Given the description of an element on the screen output the (x, y) to click on. 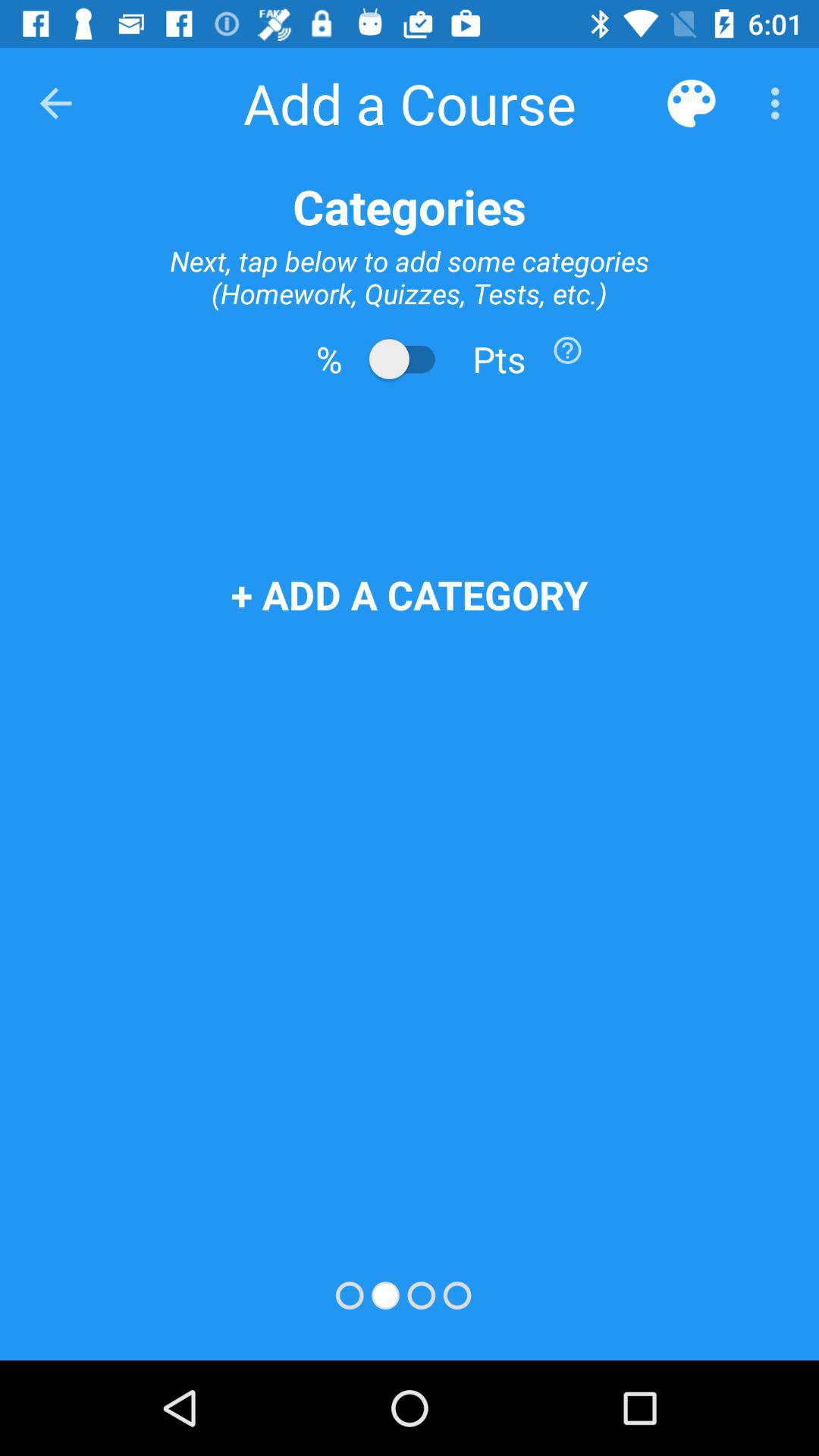
switch from percents to points (409, 359)
